Given the description of an element on the screen output the (x, y) to click on. 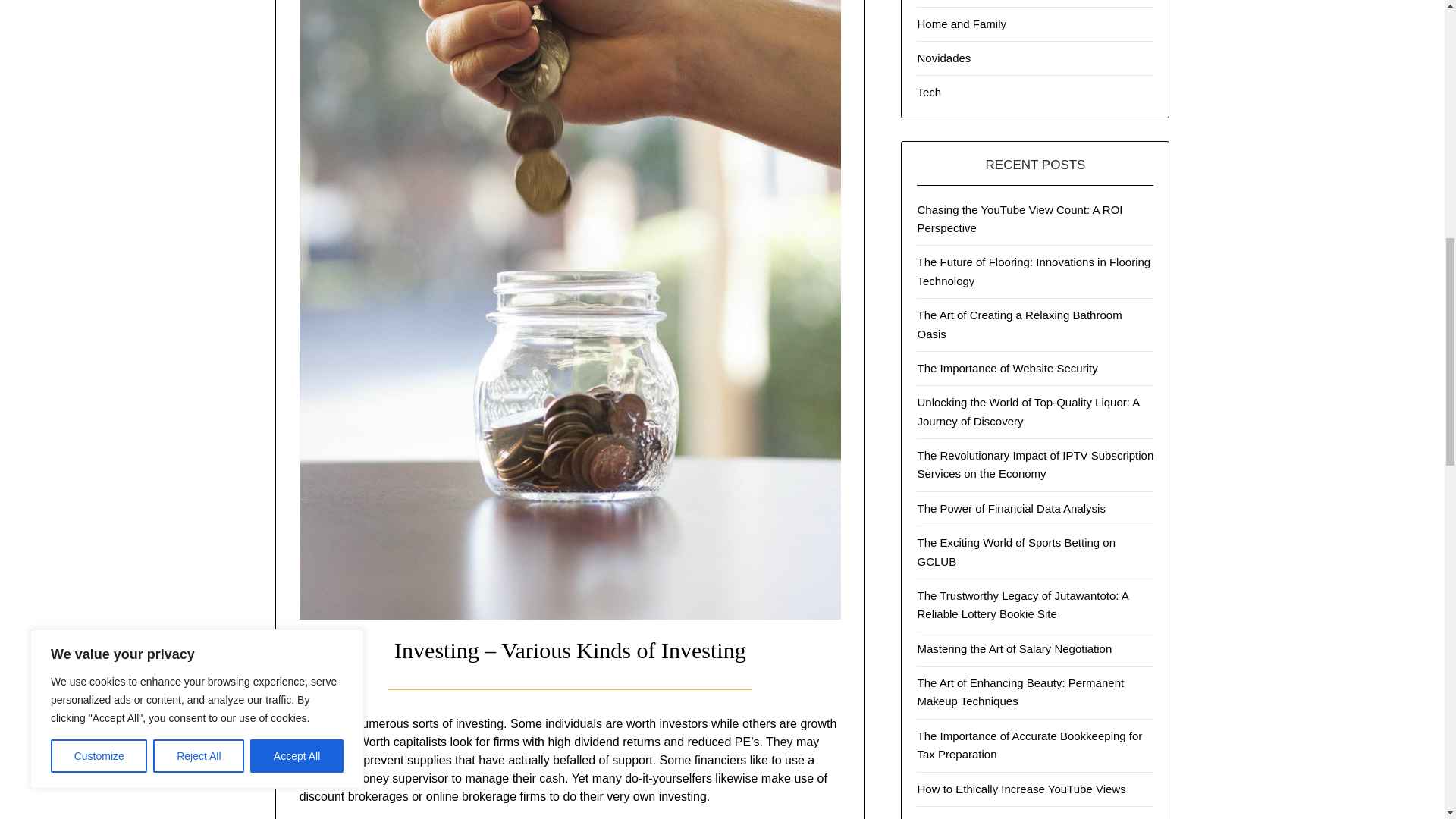
Chasing the YouTube View Count: A ROI Perspective (1019, 218)
Tech (928, 91)
Home and Family (961, 22)
Novidades (944, 57)
The Future of Flooring: Innovations in Flooring Technology (1033, 270)
